Given the description of an element on the screen output the (x, y) to click on. 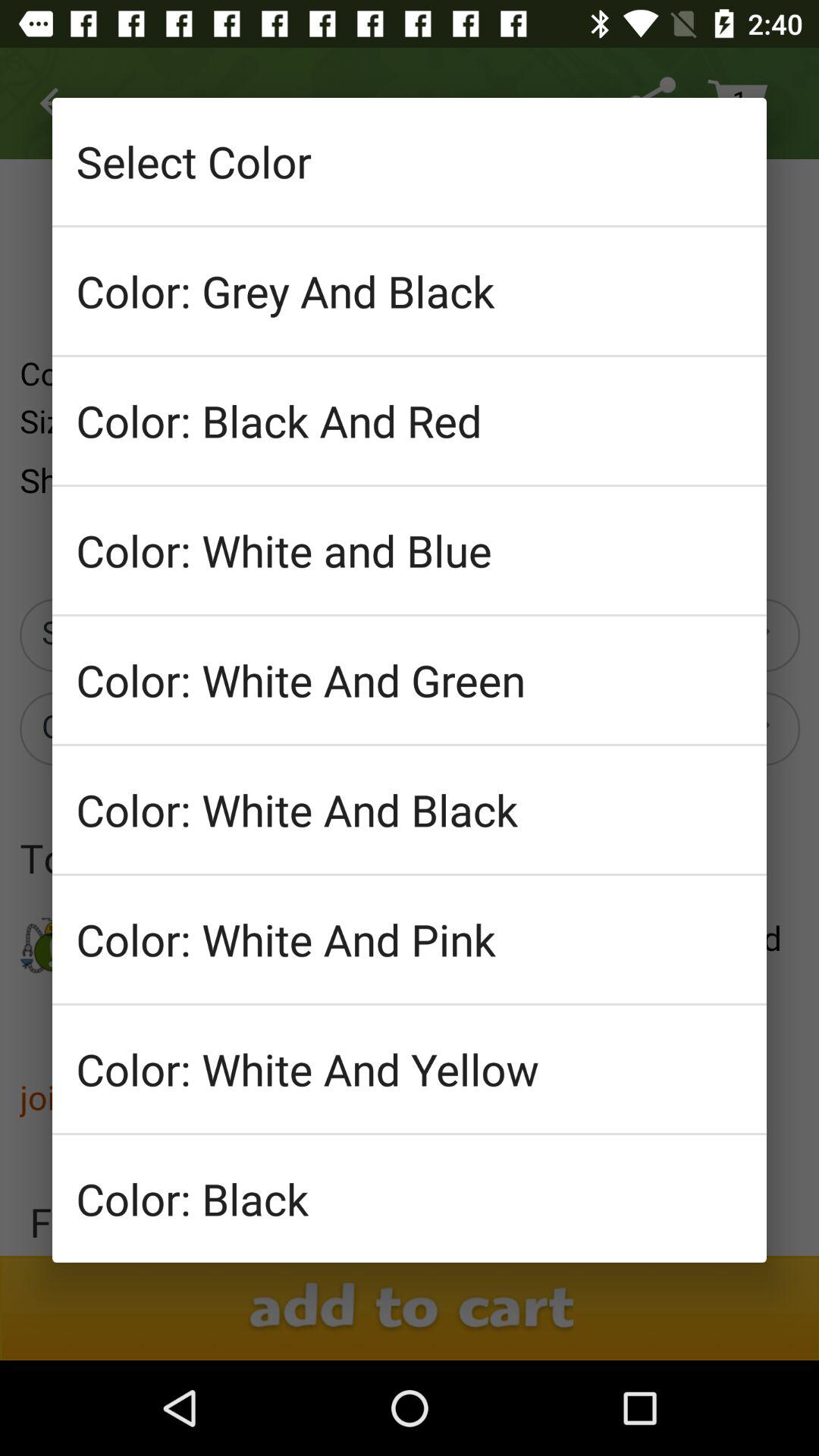
flip until the select color icon (409, 161)
